Given the description of an element on the screen output the (x, y) to click on. 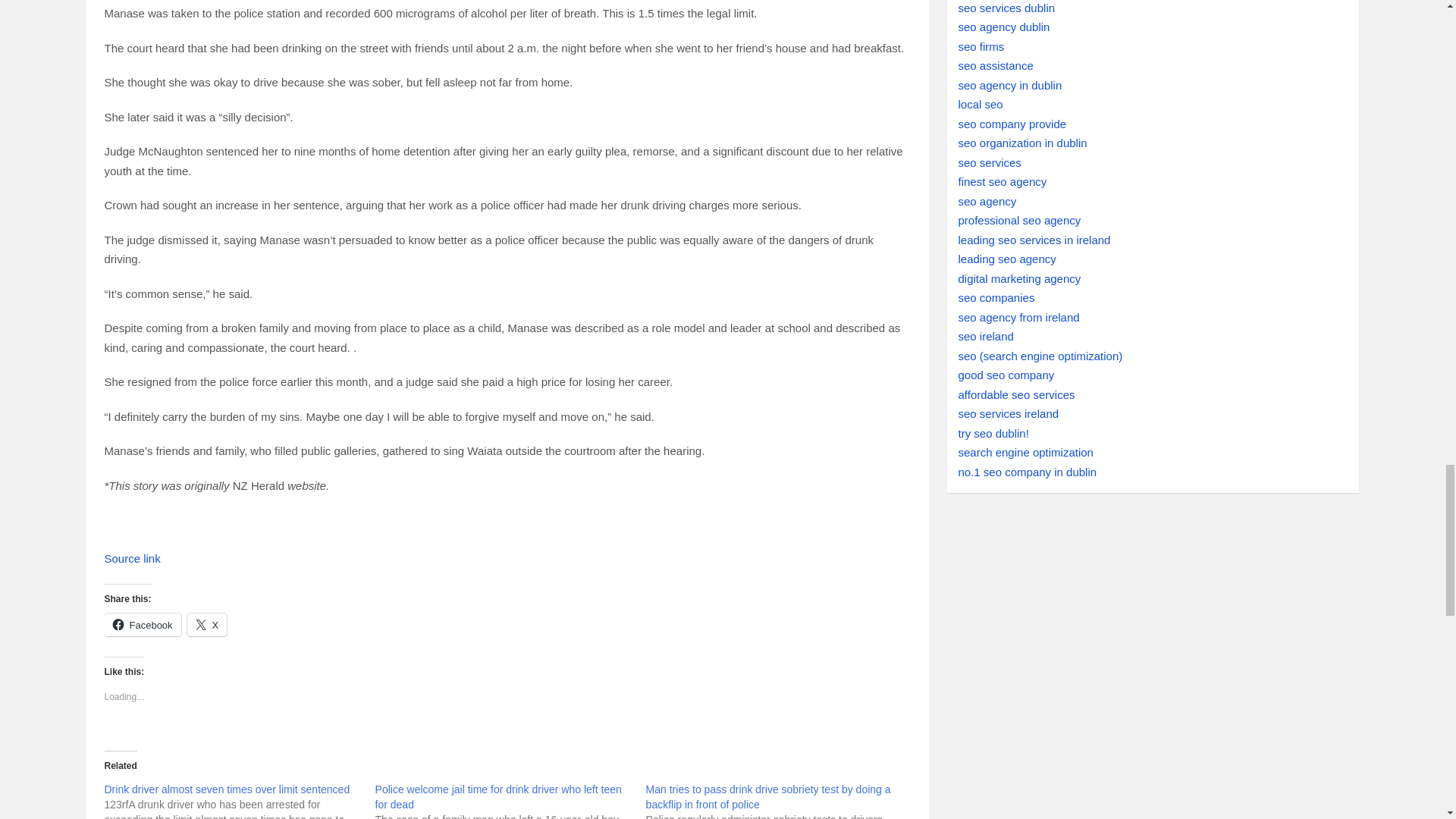
X (207, 624)
Drink driver almost seven times over limit sentenced (227, 788)
Drink driver almost seven times over limit sentenced (227, 788)
Source link (132, 558)
